Given the description of an element on the screen output the (x, y) to click on. 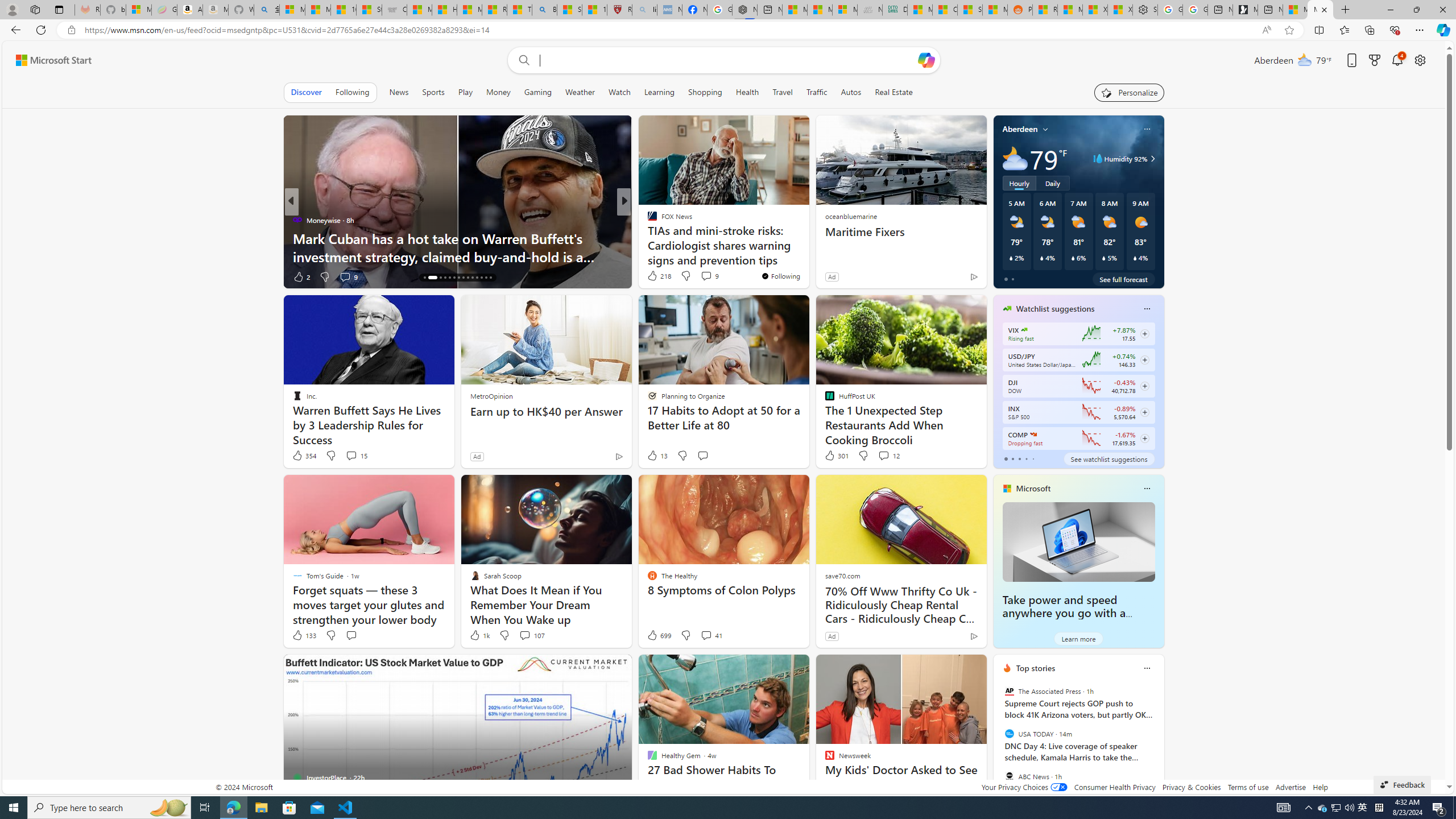
View comments 23 Comment (703, 276)
View comments 12 Comment (888, 455)
View comments 66 Comment (707, 276)
Mostly cloudy (1014, 158)
8 Like (651, 276)
67 Like (652, 276)
MarketBeat (647, 238)
15 Like (652, 276)
